Given the description of an element on the screen output the (x, y) to click on. 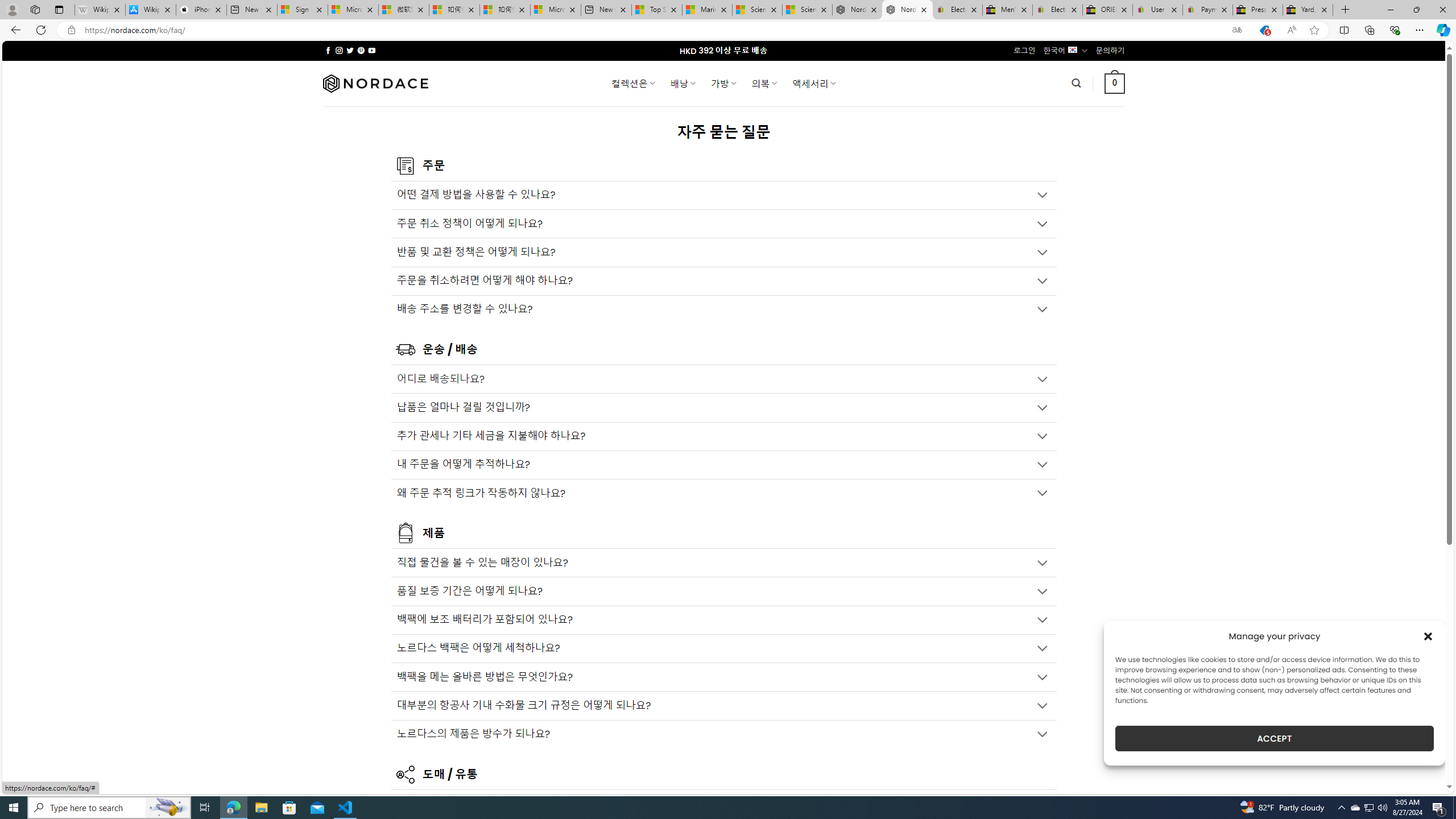
  0   (1115, 83)
Follow on Facebook (327, 50)
Follow on YouTube (371, 50)
Show translate options (1236, 29)
Follow on Instagram (338, 50)
